Given the description of an element on the screen output the (x, y) to click on. 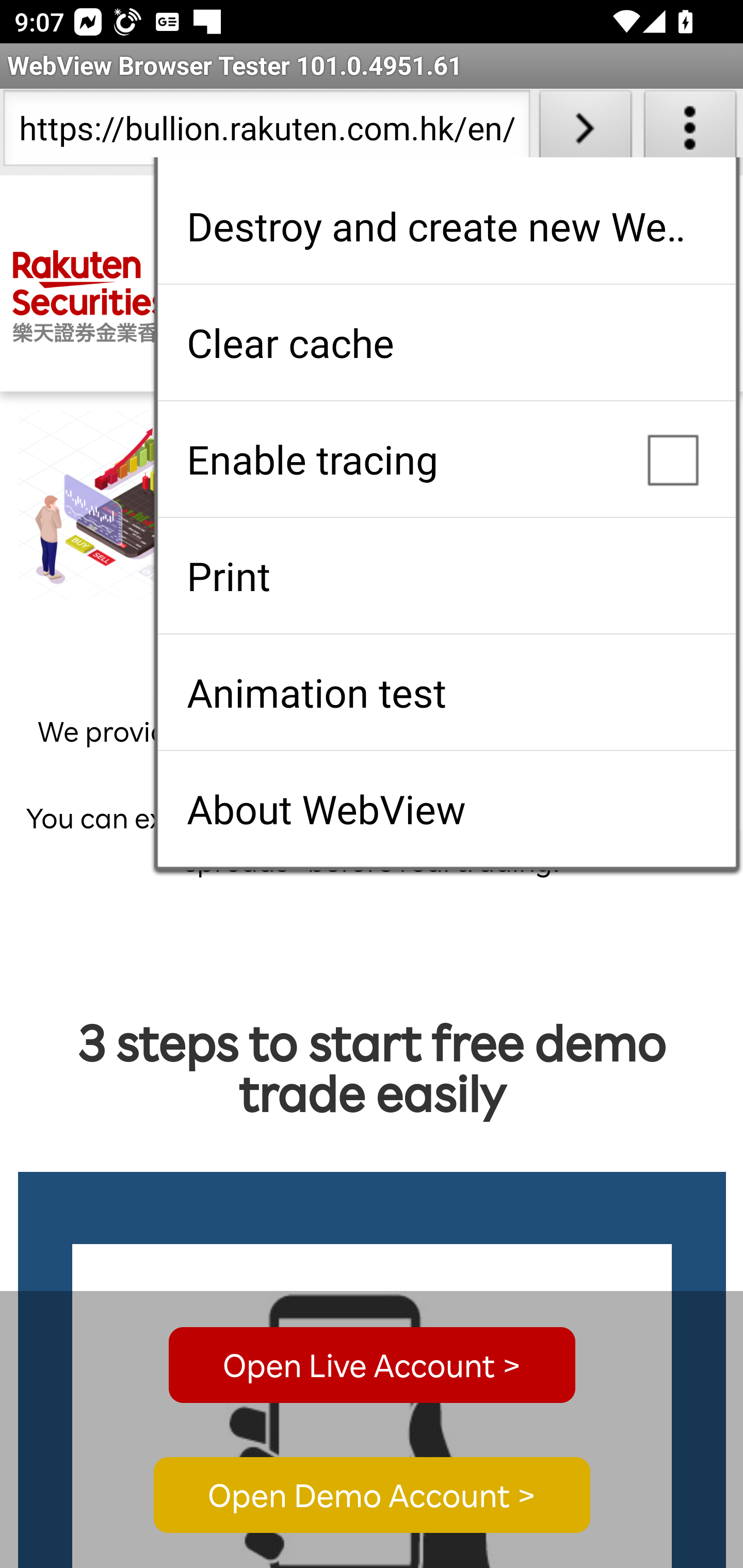
Destroy and create new WebView (446, 225)
Clear cache (446, 342)
Enable tracing (446, 459)
Print (446, 575)
Animation test (446, 692)
About WebView (446, 809)
